Given the description of an element on the screen output the (x, y) to click on. 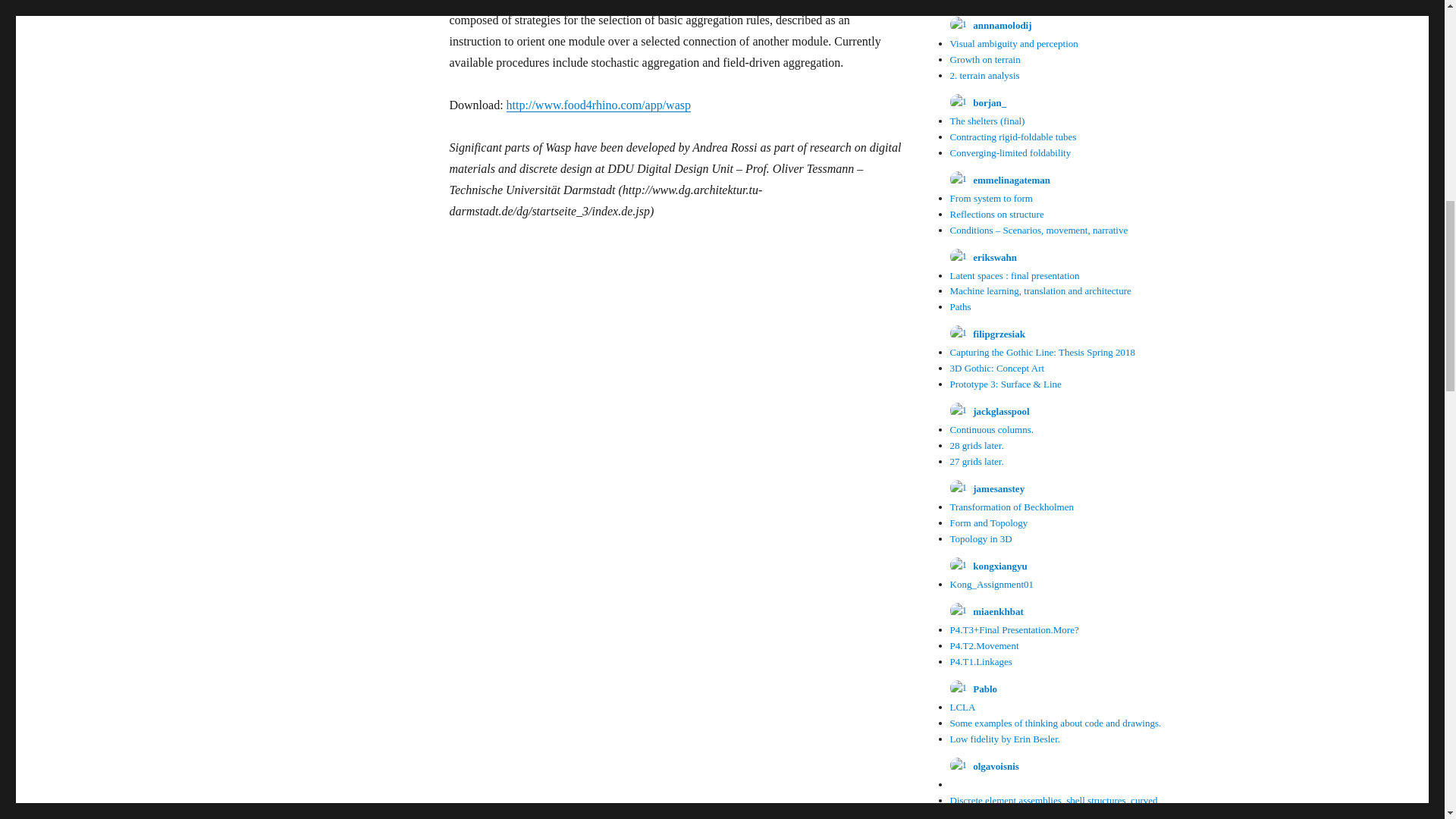
Converging-limited foldability (1009, 152)
2. terrain analysis (984, 75)
Visual ambiguity and perception (1013, 43)
Contracting rigid-foldable tubes (1012, 136)
For all the space frame lovers out there (1026, 2)
Growth on terrain (984, 59)
